Given the description of an element on the screen output the (x, y) to click on. 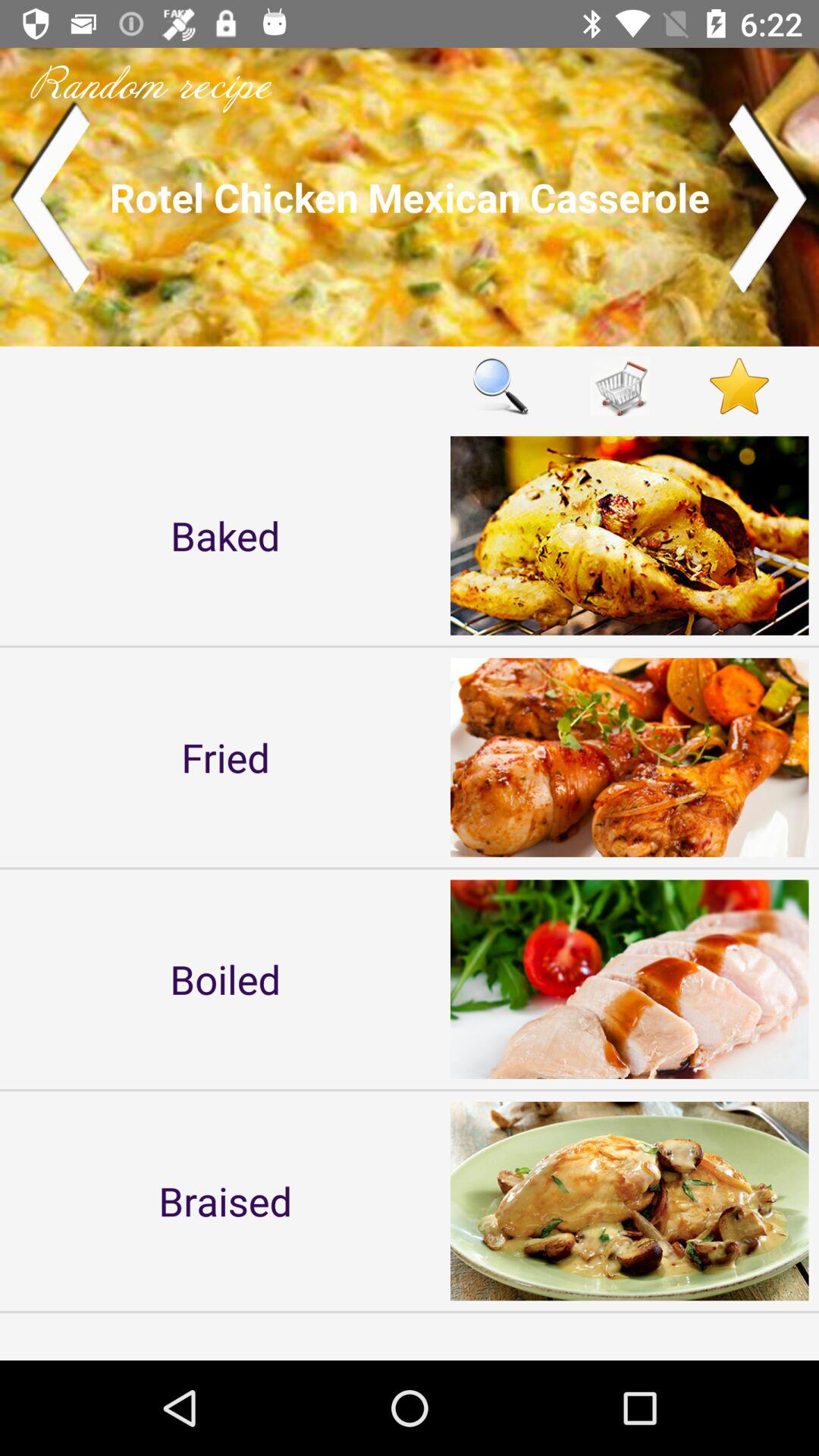
click the boiled (225, 978)
